Given the description of an element on the screen output the (x, y) to click on. 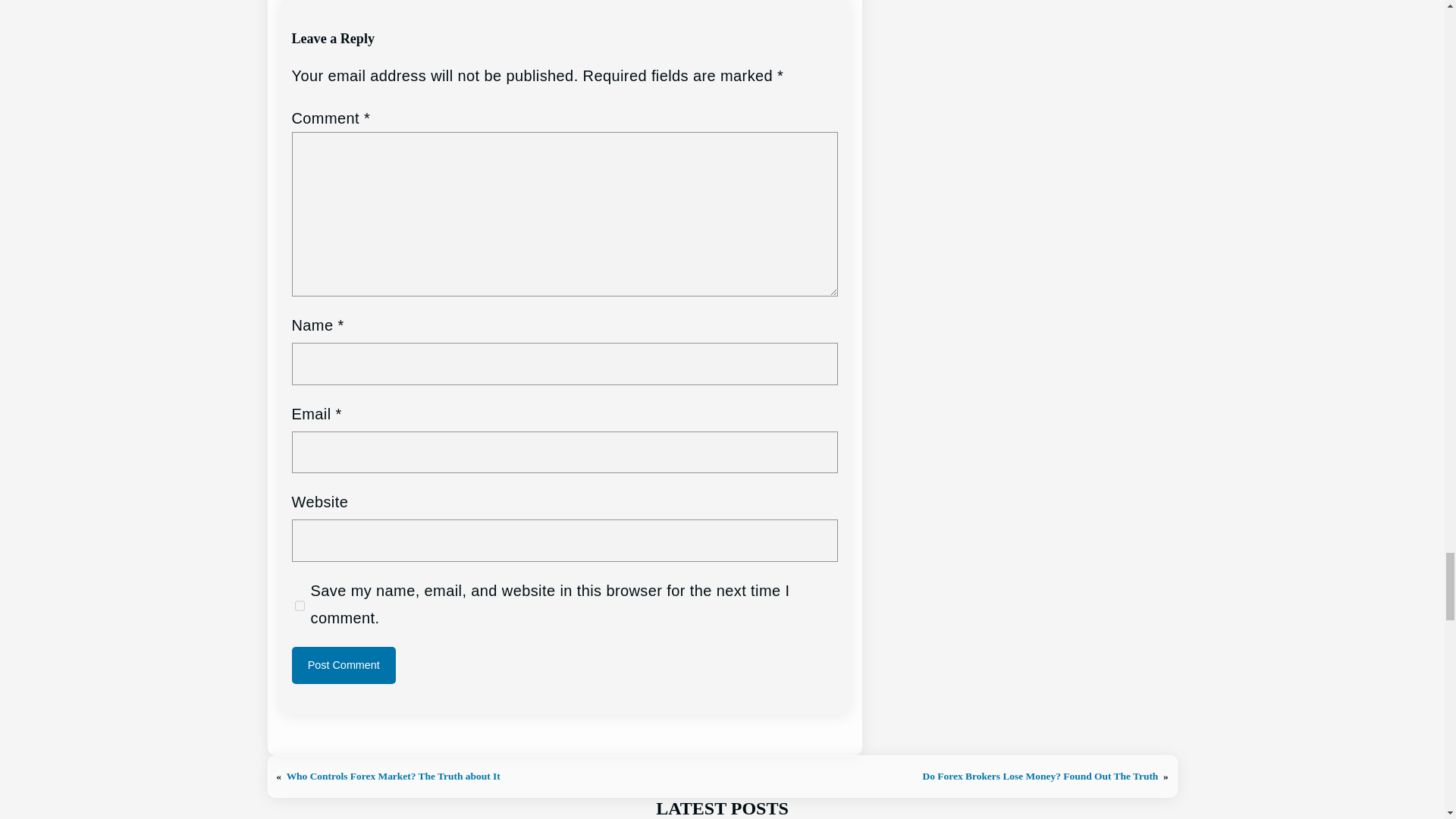
Post Comment (343, 665)
Post Comment (343, 665)
